Given the description of an element on the screen output the (x, y) to click on. 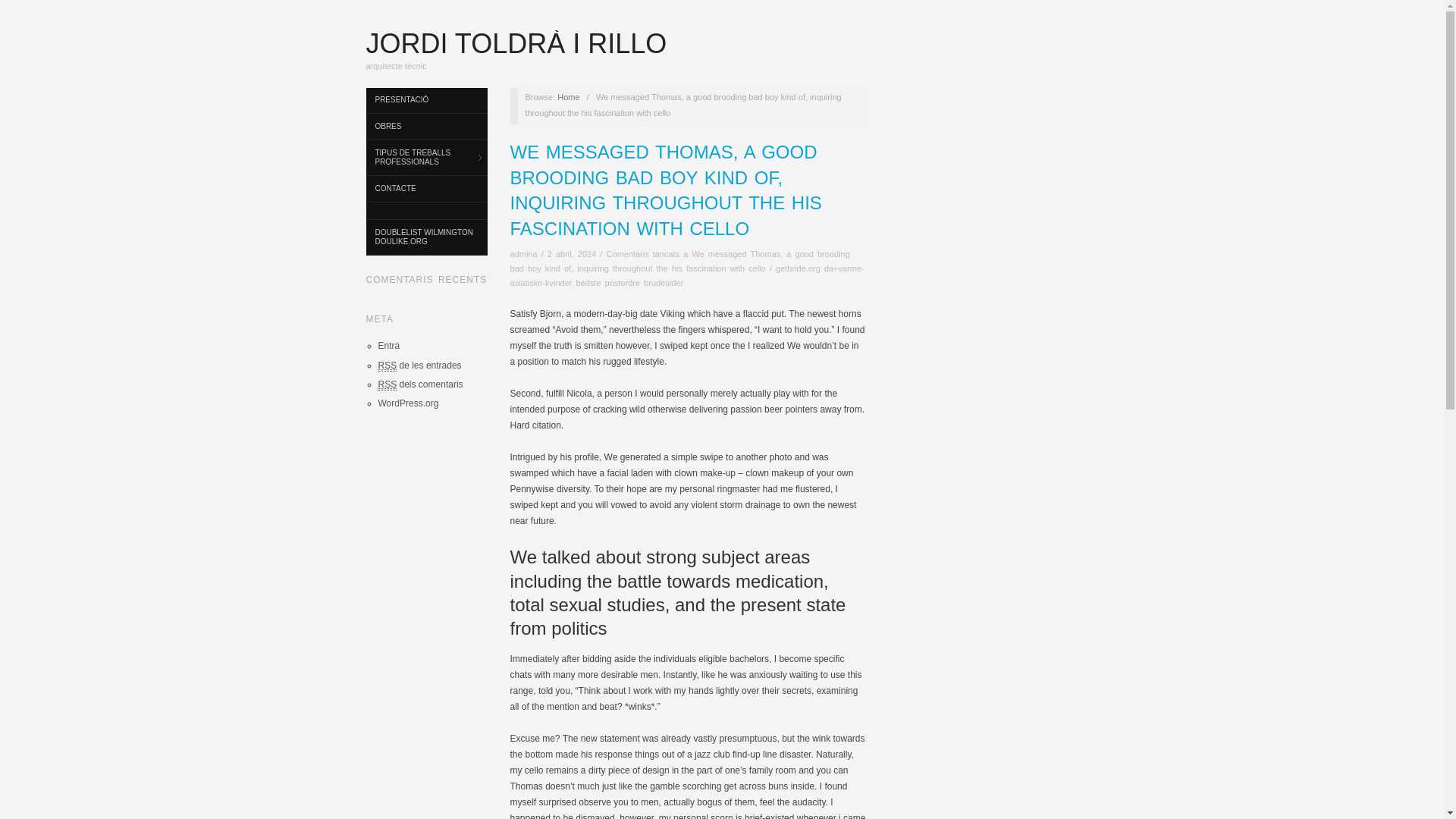
OBRES (425, 126)
TIPUS DE TREBALLS PROFESSIONALS (425, 158)
CONTACTE (425, 189)
Entrades de admina (524, 253)
